Given the description of an element on the screen output the (x, y) to click on. 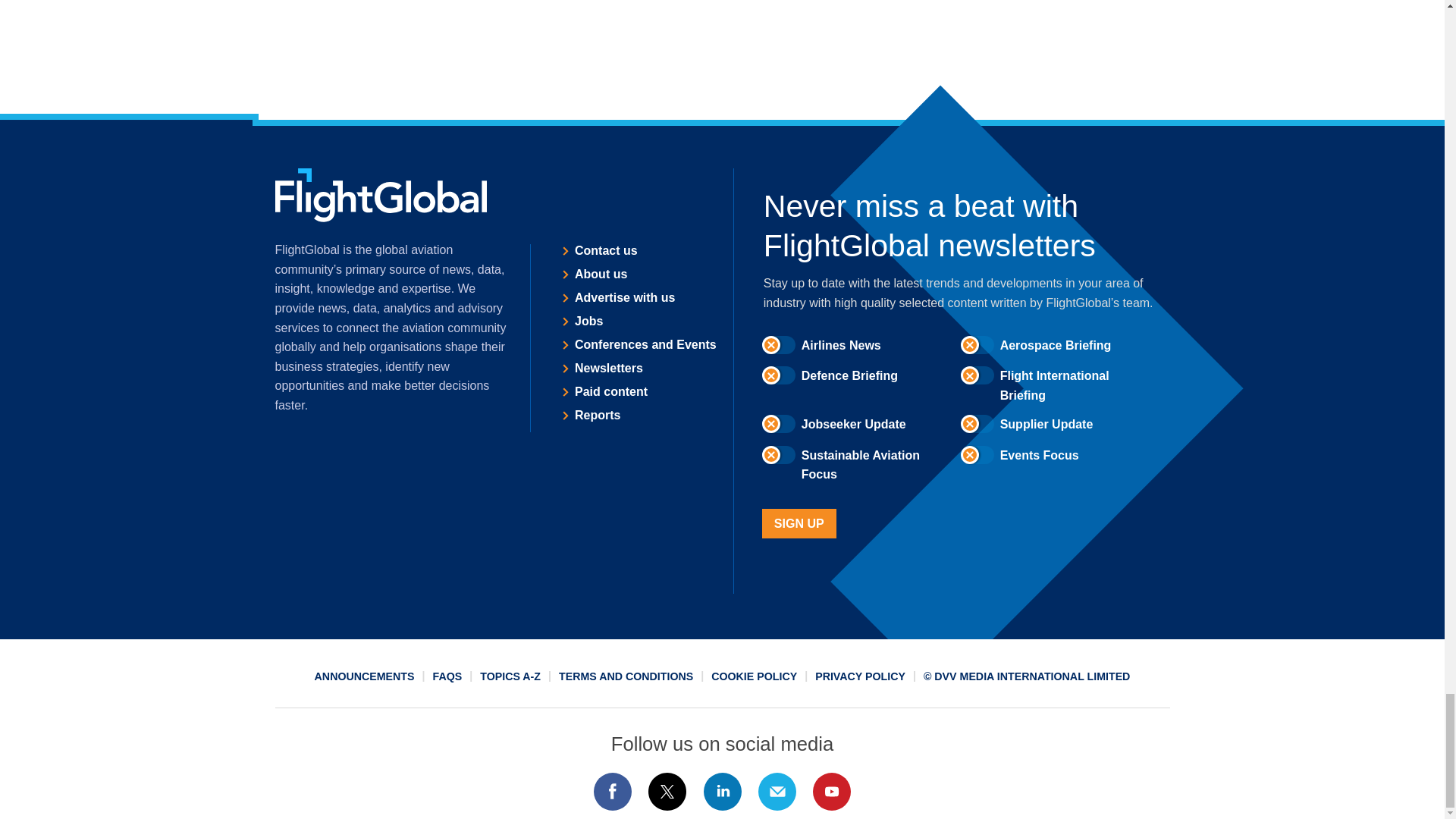
Connect with us on Facebook (611, 791)
Connect with us on Linked In (721, 791)
Connect with us on Youtube (831, 791)
Connect with us on Twitter (667, 791)
Email us (776, 791)
